Given the description of an element on the screen output the (x, y) to click on. 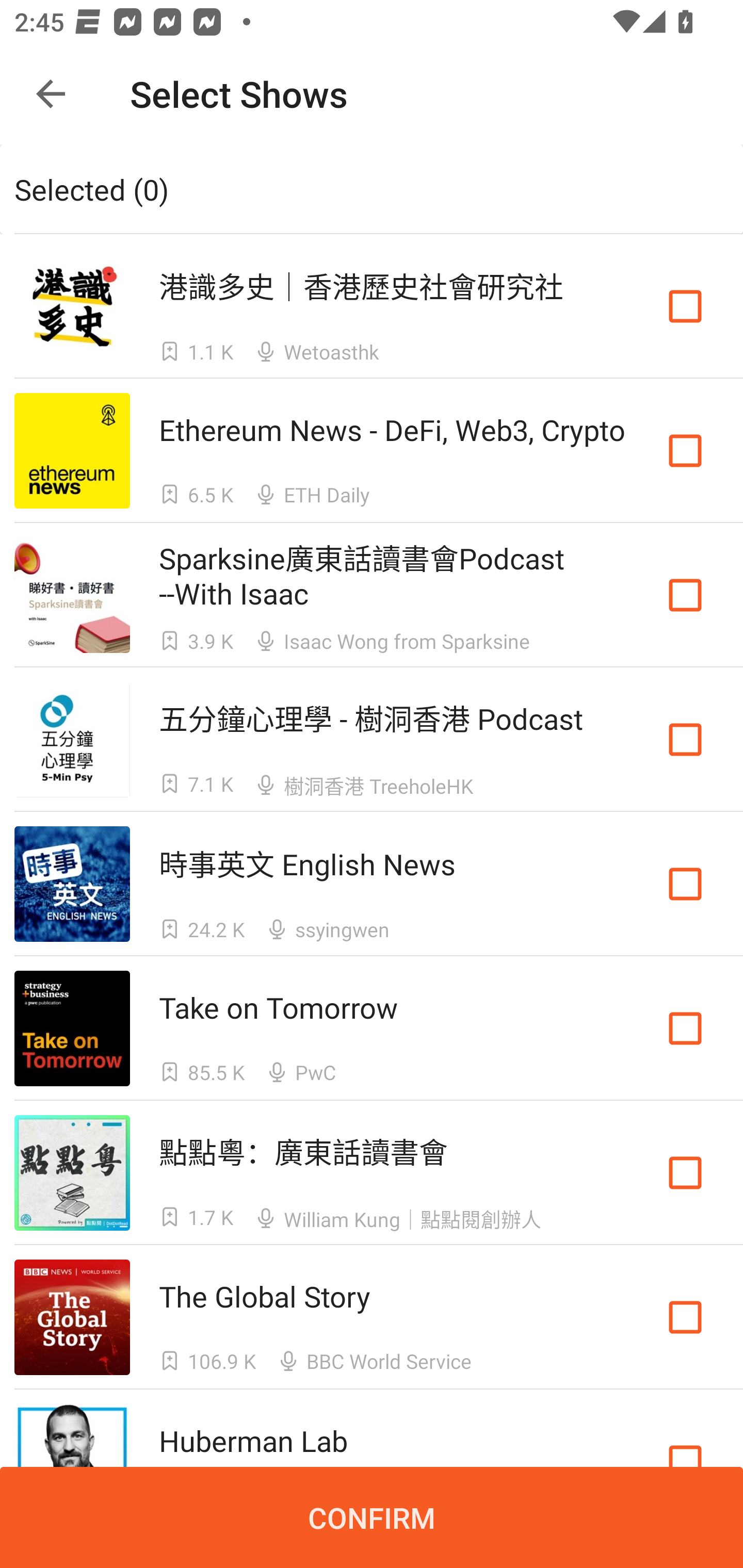
Navigate up (50, 93)
港識多史｜香港歷史社會研究社 港識多史｜香港歷史社會研究社  1.1 K  Wetoasthk (371, 305)
Take on Tomorrow Take on Tomorrow  85.5 K  PwC (371, 1028)
CONFIRM (371, 1517)
